Given the description of an element on the screen output the (x, y) to click on. 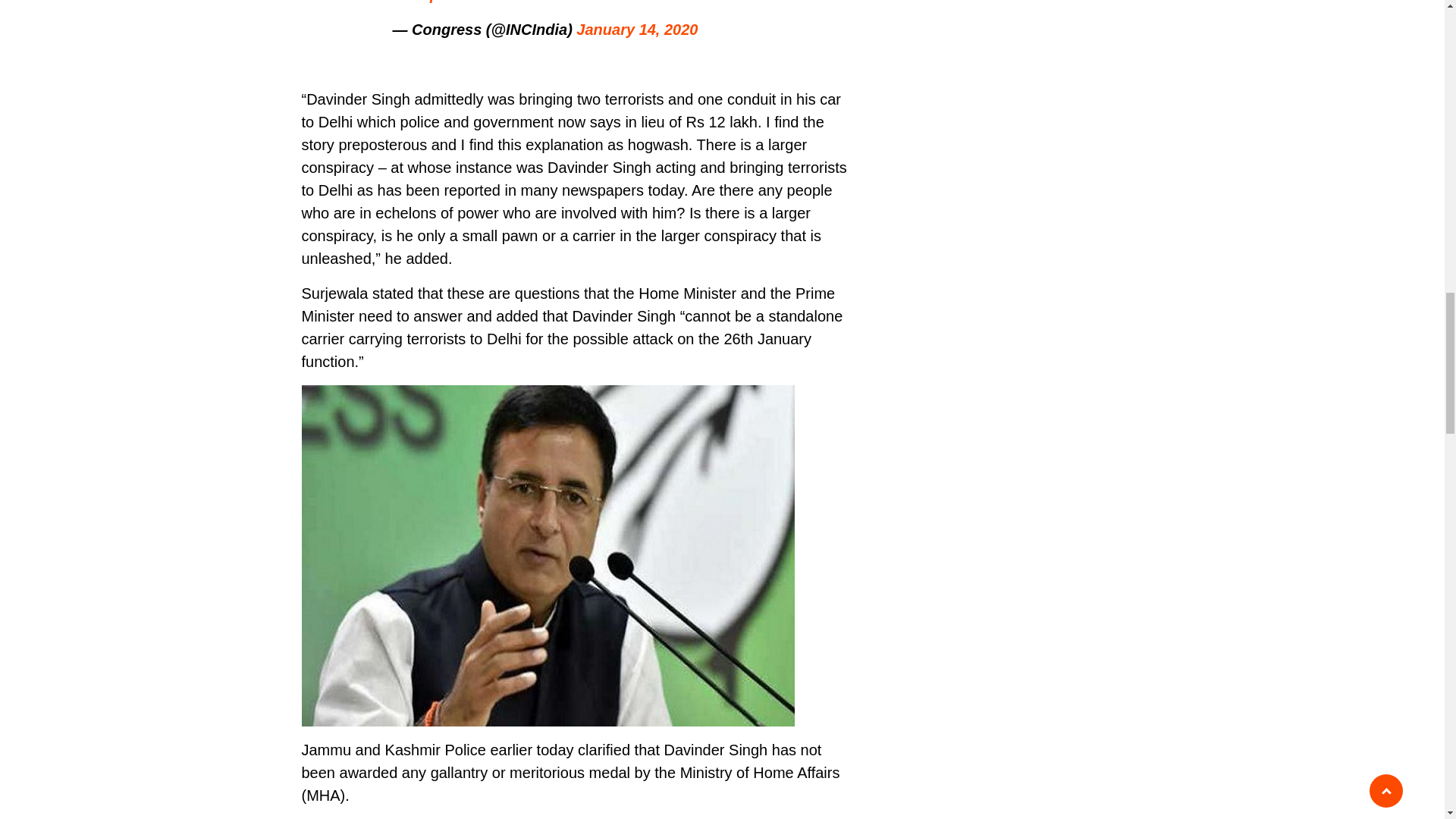
January 14, 2020 (636, 29)
